Given the description of an element on the screen output the (x, y) to click on. 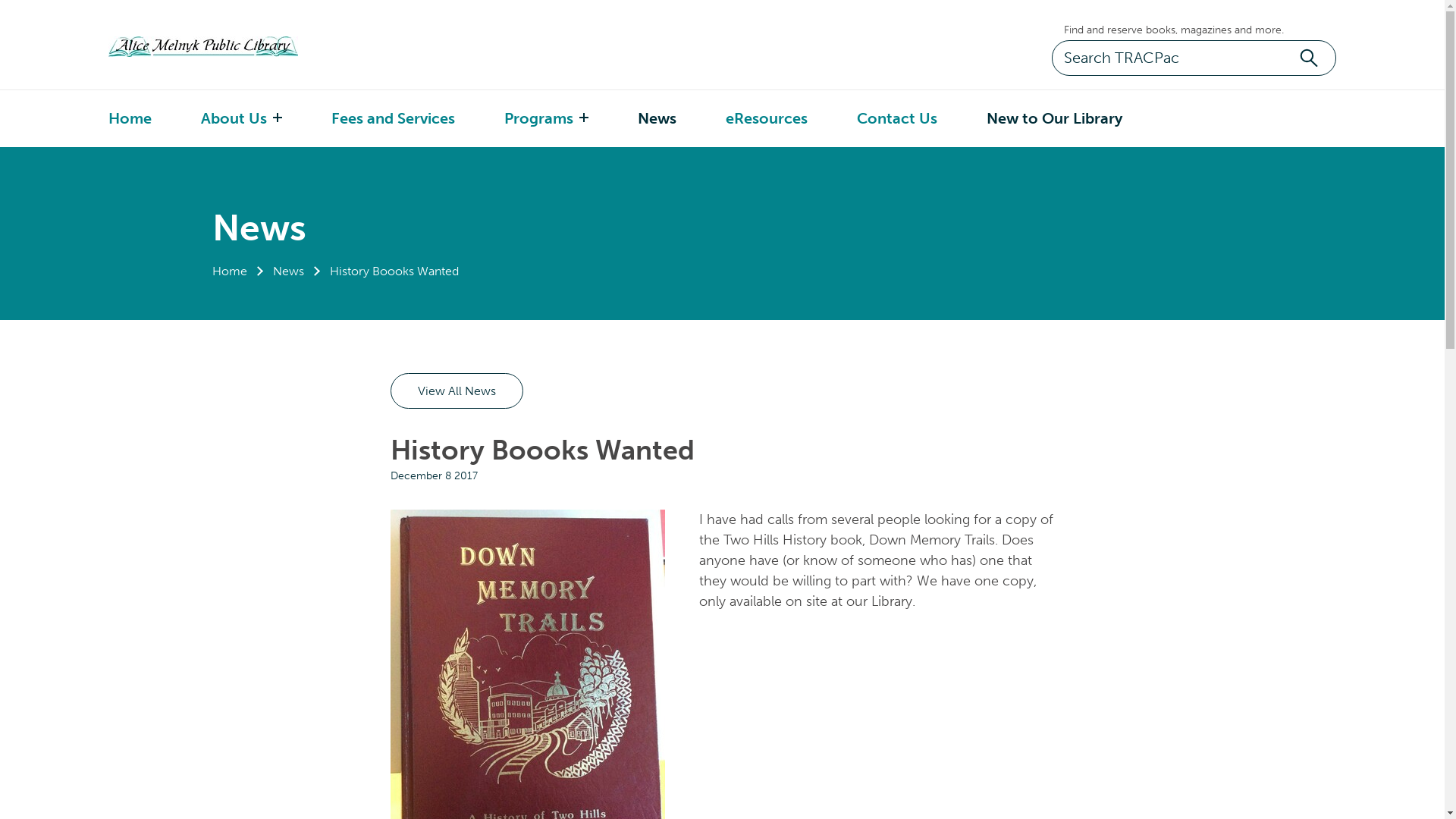
Home Element type: text (229, 270)
eResources Element type: text (766, 118)
Alice Melnyk Public Library Element type: hover (229, 46)
New to Our Library Element type: text (1054, 118)
Home Element type: text (129, 118)
About Us Element type: text (233, 118)
News Element type: text (656, 118)
View All News Element type: text (456, 390)
Fees and Services Element type: text (393, 118)
Programs Element type: text (538, 118)
News Element type: text (288, 270)
Contact Us Element type: text (896, 118)
